Given the description of an element on the screen output the (x, y) to click on. 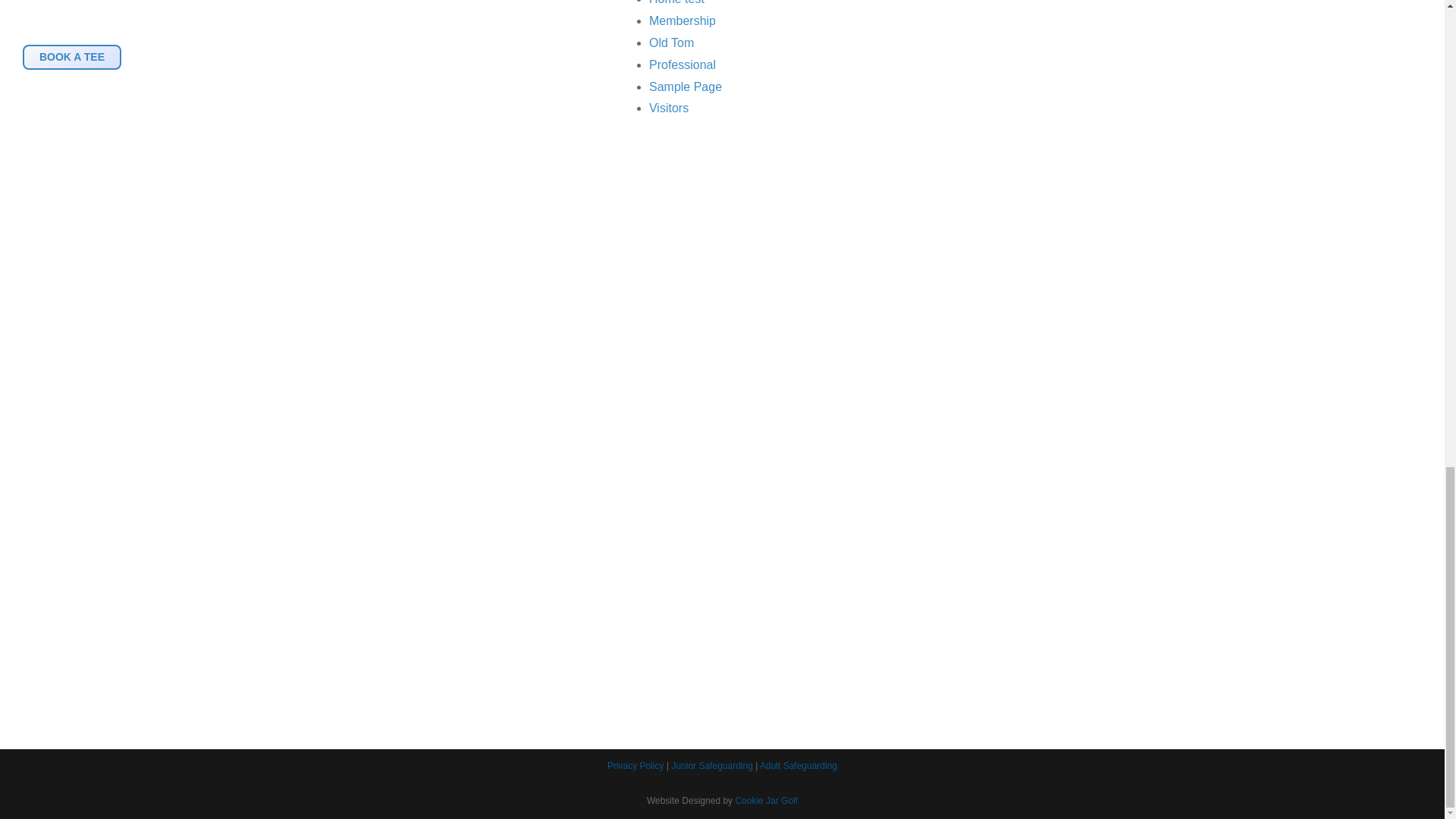
Visitors (668, 107)
Professional (682, 64)
Home test (676, 2)
Sample Page (685, 86)
Old Tom (671, 42)
Membership (682, 20)
